Given the description of an element on the screen output the (x, y) to click on. 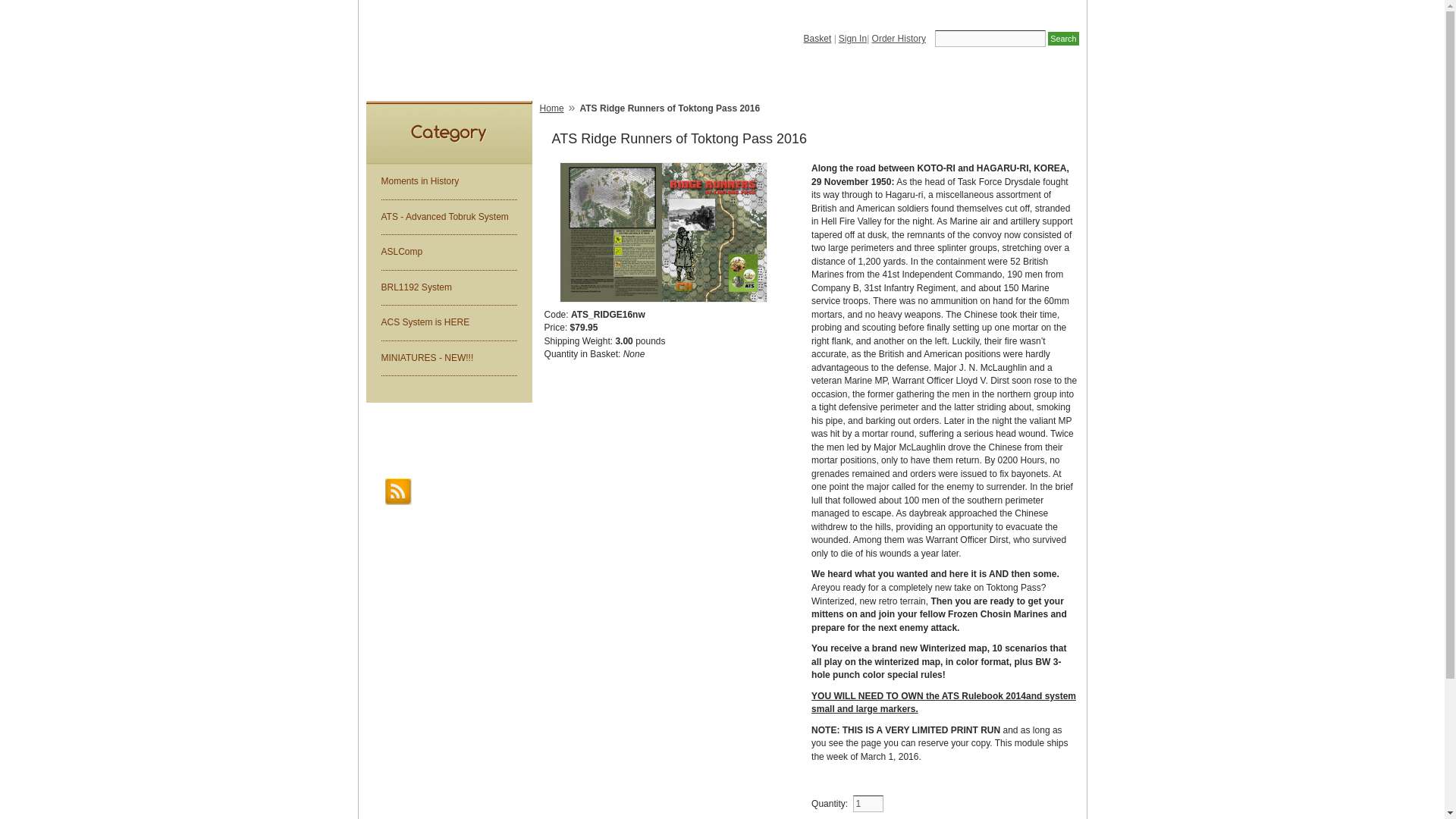
ATS - Advanced Tobruk System (448, 217)
Sign In (852, 38)
Home (552, 110)
BRL1192 System (448, 288)
Search (1063, 38)
Search (1063, 38)
ACS System is HERE (448, 322)
Checkout (900, 79)
MINIATURES - NEW!!! (448, 358)
Account (714, 79)
